Given the description of an element on the screen output the (x, y) to click on. 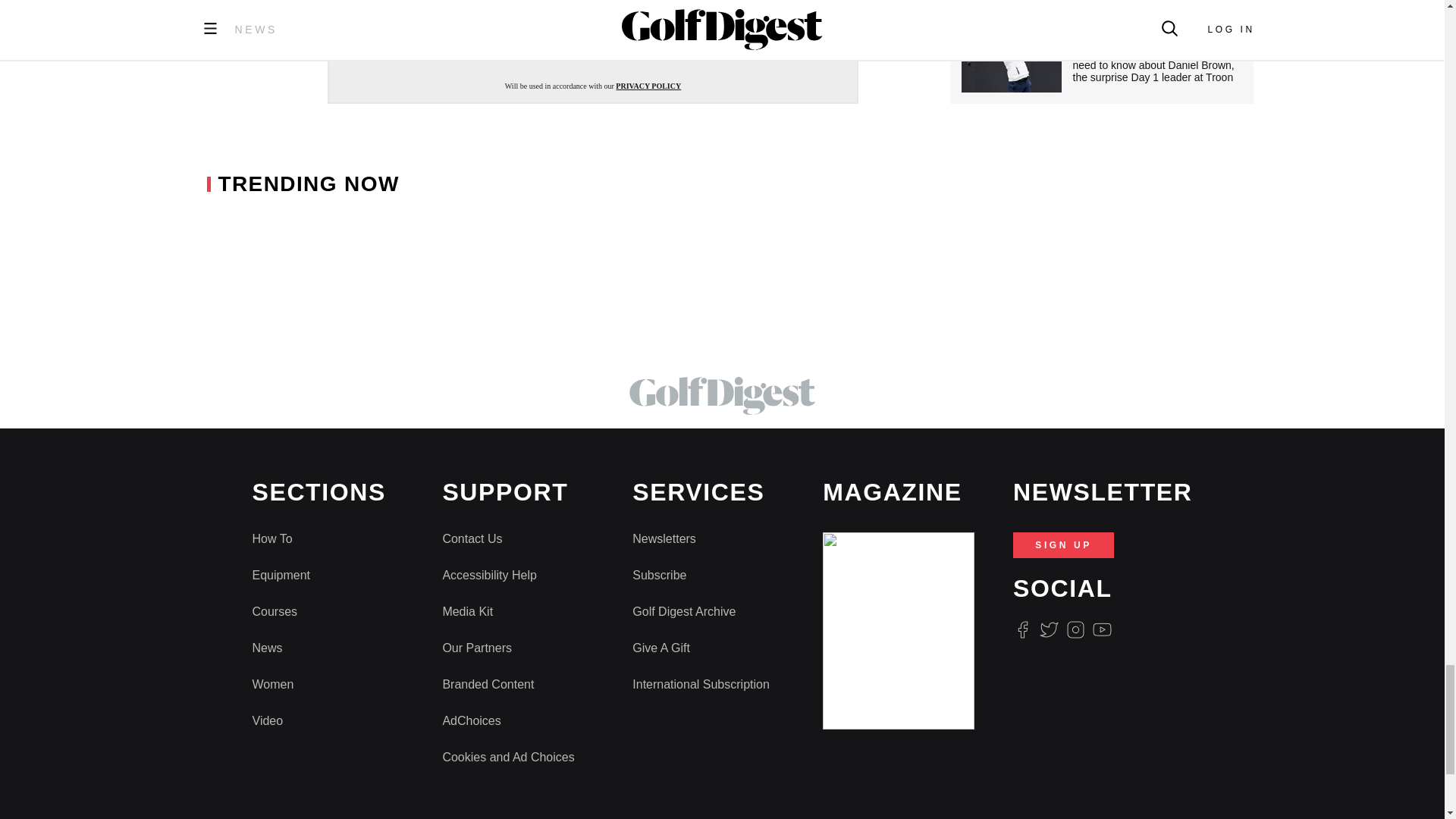
Sign up (593, 42)
Instagram Logo (1074, 629)
Twitter Logo (1048, 629)
Facebook Logo (1022, 629)
Youtube Icon (1102, 629)
